Given the description of an element on the screen output the (x, y) to click on. 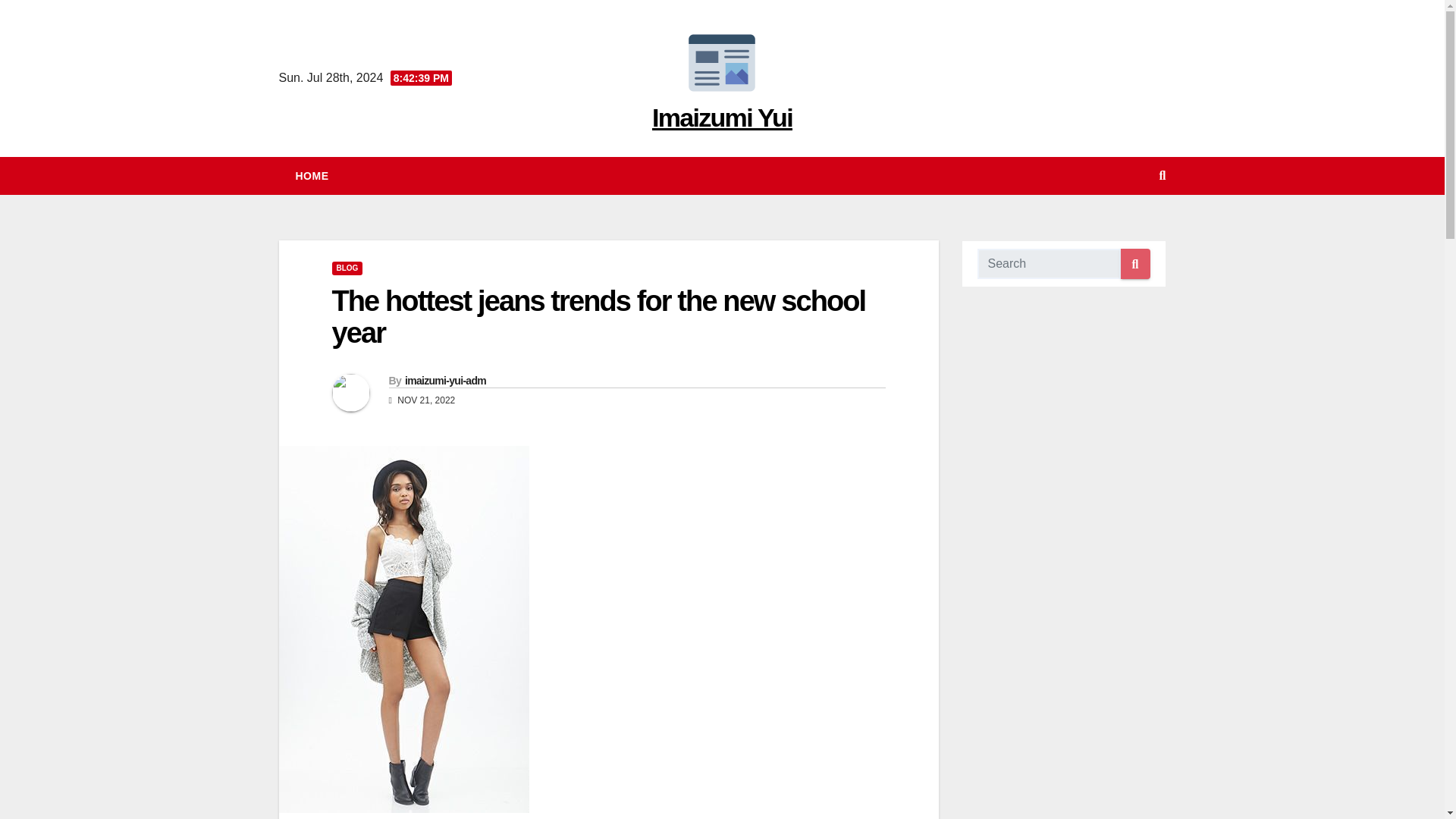
imaizumi-yui-adm (445, 380)
Imaizumi Yui (722, 117)
The hottest jeans trends for the new school year (598, 316)
BLOG (346, 268)
HOME (312, 175)
Home (312, 175)
